Given the description of an element on the screen output the (x, y) to click on. 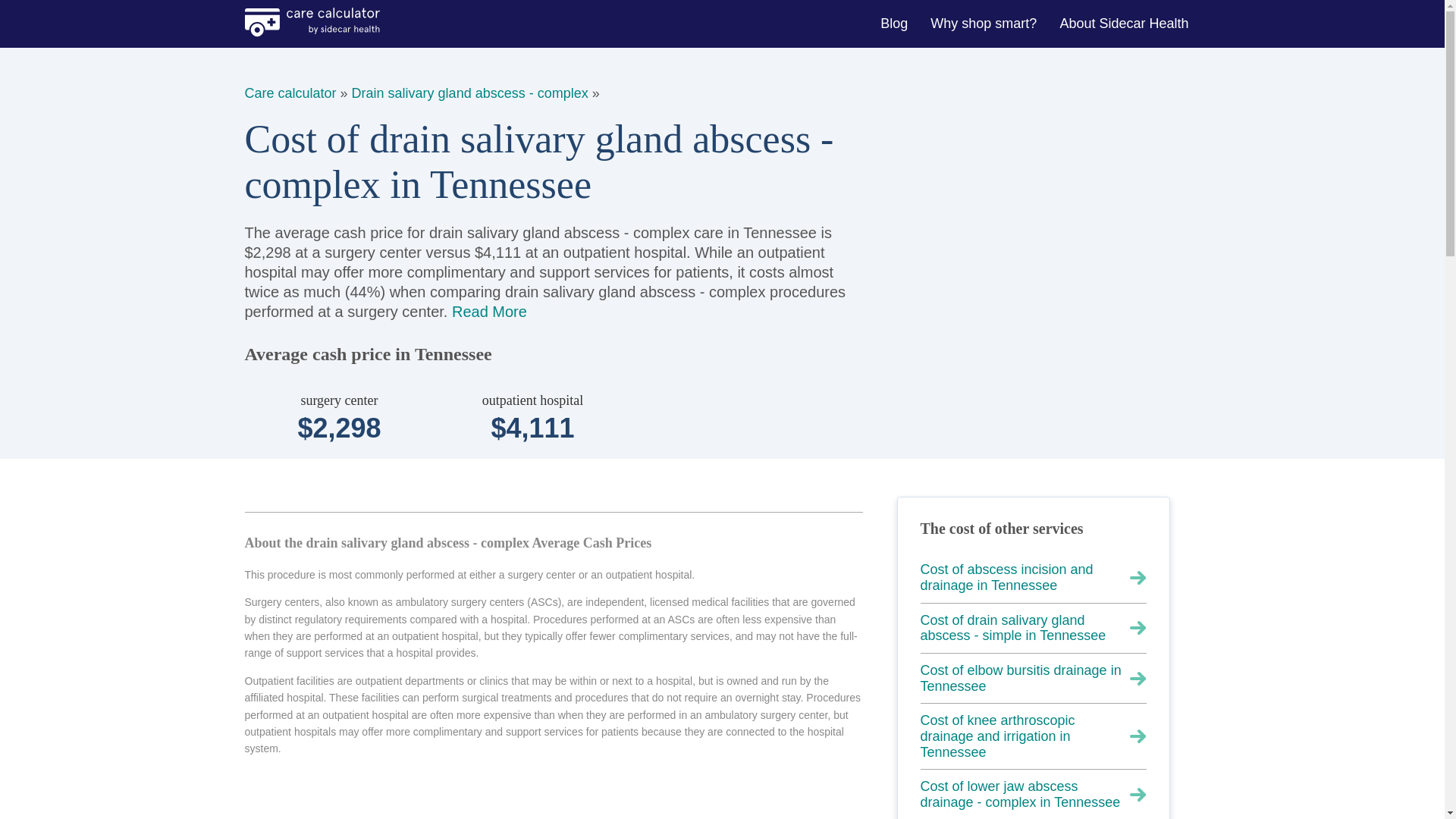
Cost of elbow bursitis drainage in Tennessee (1033, 678)
Drain salivary gland abscess - complex (470, 92)
Care calculator (290, 92)
Blog (895, 23)
Read More (489, 311)
Why shop smart? (985, 23)
Cost of lower jaw abscess drainage - complex in Tennessee (1033, 794)
Cost of abscess incision and drainage in Tennessee (1033, 577)
About Sidecar Health (1125, 23)
Cost of drain salivary gland abscess - simple in Tennessee (1033, 628)
